Given the description of an element on the screen output the (x, y) to click on. 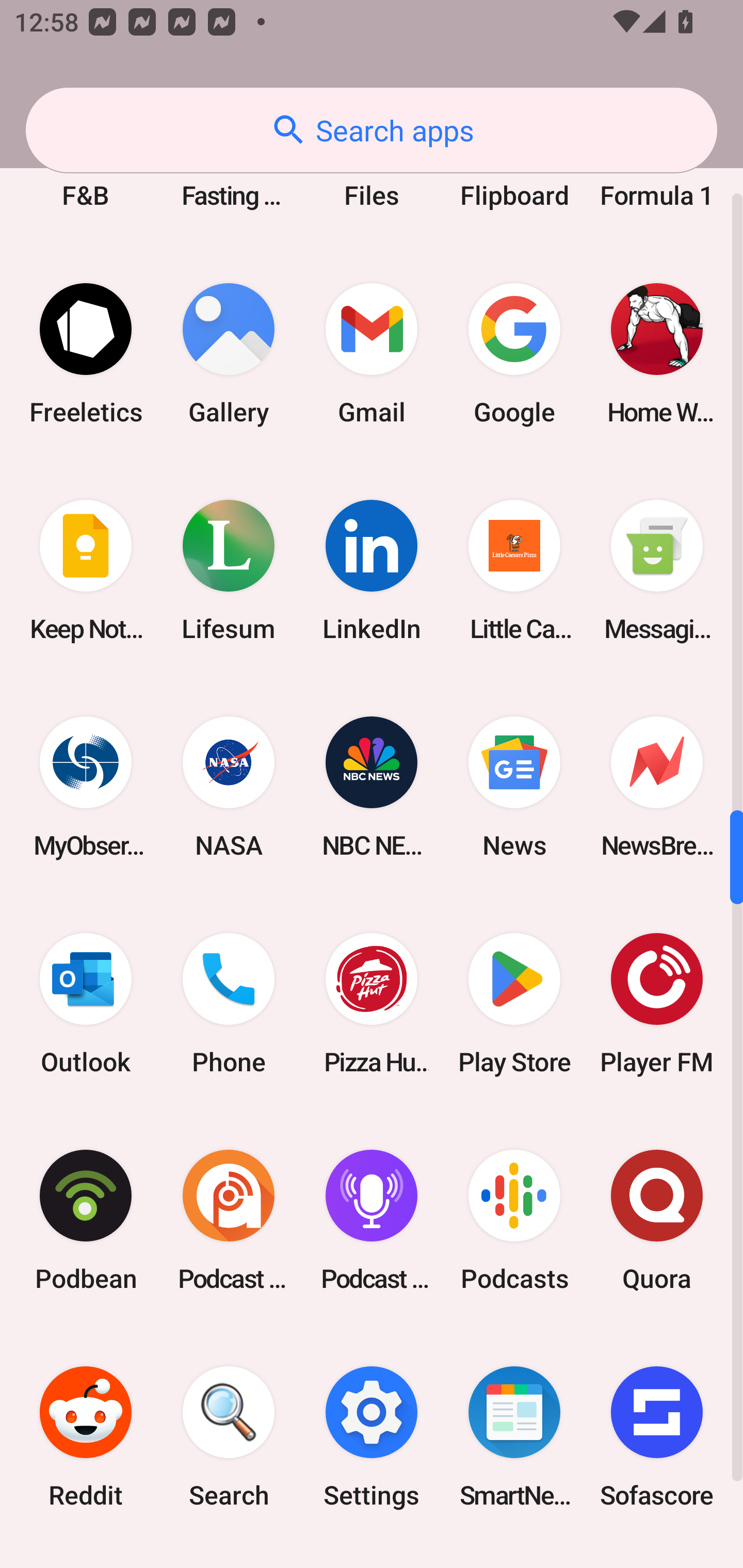
  Search apps (371, 130)
F&B (85, 174)
Fasting Coach (228, 174)
Files (371, 174)
Flipboard (514, 174)
Formula 1 (656, 174)
Freeletics (85, 354)
Gallery (228, 354)
Gmail (371, 354)
Google (514, 354)
Home Workout (656, 354)
Keep Notes (85, 570)
Lifesum (228, 570)
LinkedIn (371, 570)
Little Caesars Pizza (514, 570)
Messaging (656, 570)
MyObservatory (85, 786)
NASA (228, 786)
NBC NEWS (371, 786)
News (514, 786)
NewsBreak (656, 786)
Outlook (85, 1003)
Phone (228, 1003)
Pizza Hut HK & Macau (371, 1003)
Play Store (514, 1003)
Player FM (656, 1003)
Podbean (85, 1219)
Podcast Addict (228, 1219)
Podcast Player (371, 1219)
Podcasts (514, 1219)
Quora (656, 1219)
Reddit (85, 1437)
Search (228, 1437)
Settings (371, 1437)
SmartNews (514, 1437)
Sofascore (656, 1437)
